Given the description of an element on the screen output the (x, y) to click on. 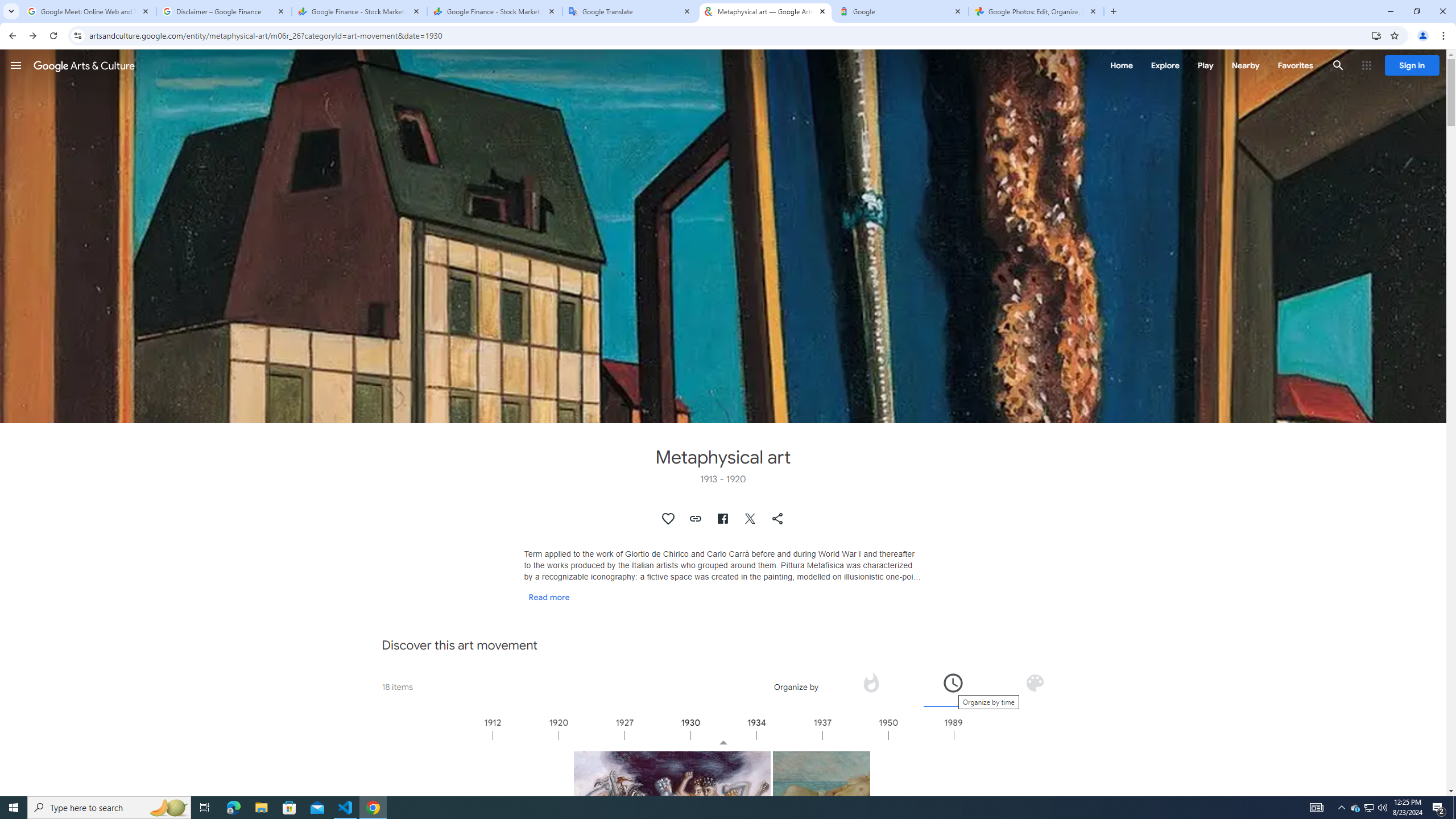
1930 (723, 734)
Share on Twitter (750, 518)
Organize by color (1034, 686)
1937 (854, 734)
Share on Facebook (722, 518)
Menu (15, 65)
